Given the description of an element on the screen output the (x, y) to click on. 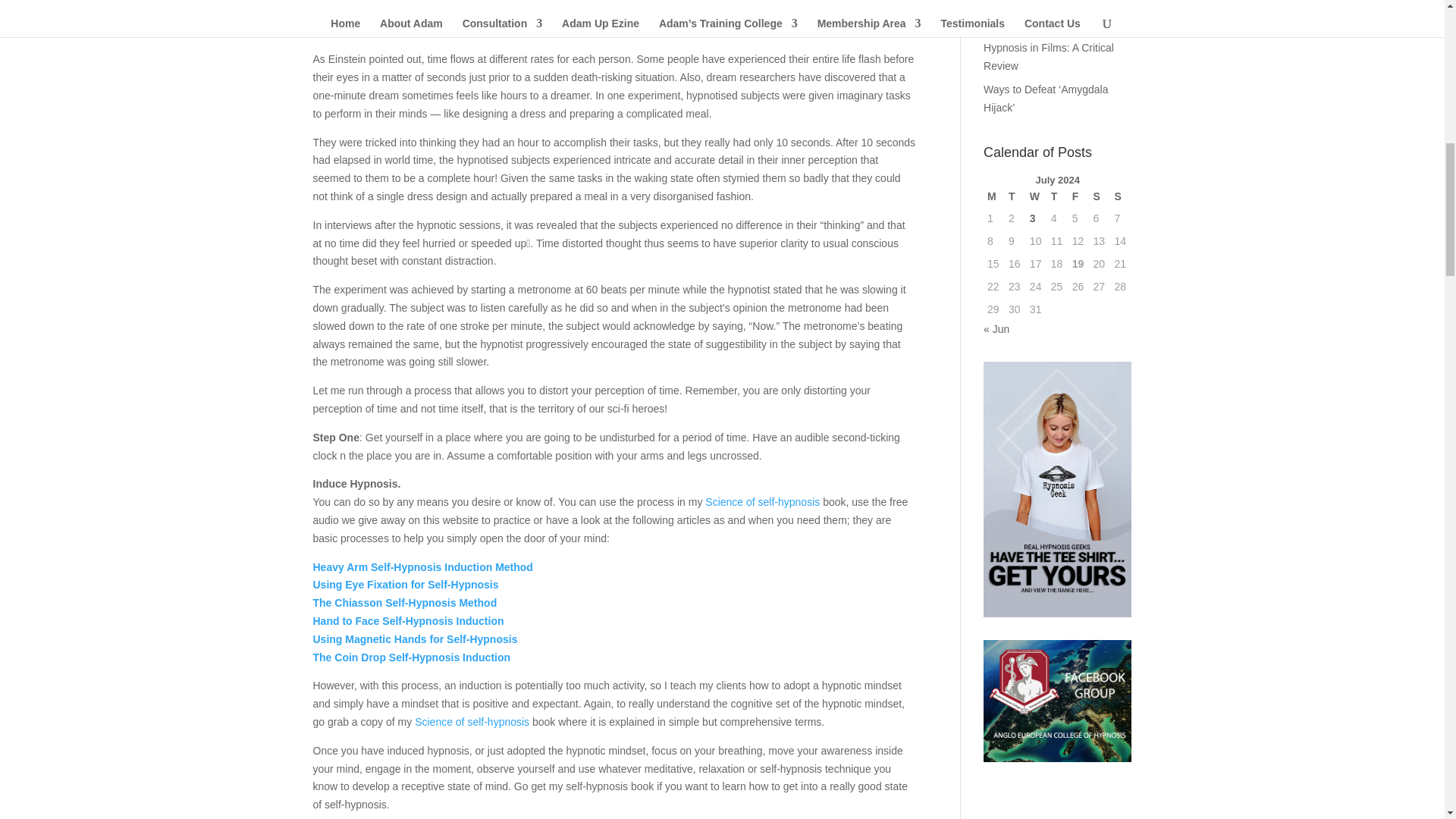
Tuesday (1015, 196)
Thursday (1057, 196)
Heavy Arm Self-Hypnosis Induction Method (422, 567)
Science of self-hypnosis (761, 501)
Monday (994, 196)
Wednesday (1036, 196)
